Given the description of an element on the screen output the (x, y) to click on. 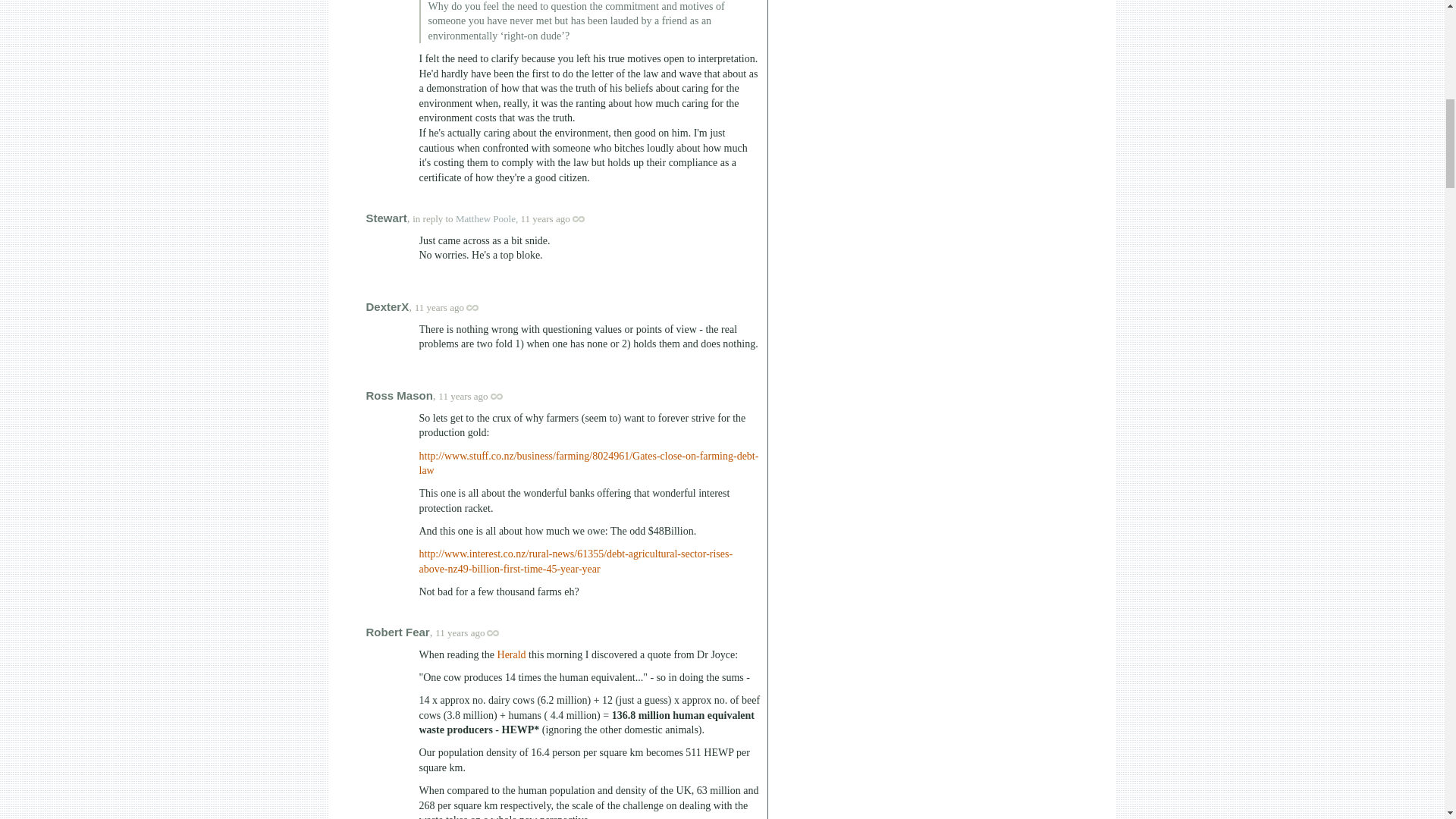
Matthew Poole, (486, 218)
18:53 Dec 2, 2012 (462, 396)
Stewart (385, 217)
14:07 Dec 2, 2012 (439, 307)
DexterX (387, 306)
09:41 Dec 3, 2012 (459, 632)
11 years ago (558, 218)
Ross Mason (398, 395)
11 years ago (477, 396)
11 years ago (453, 307)
